Given the description of an element on the screen output the (x, y) to click on. 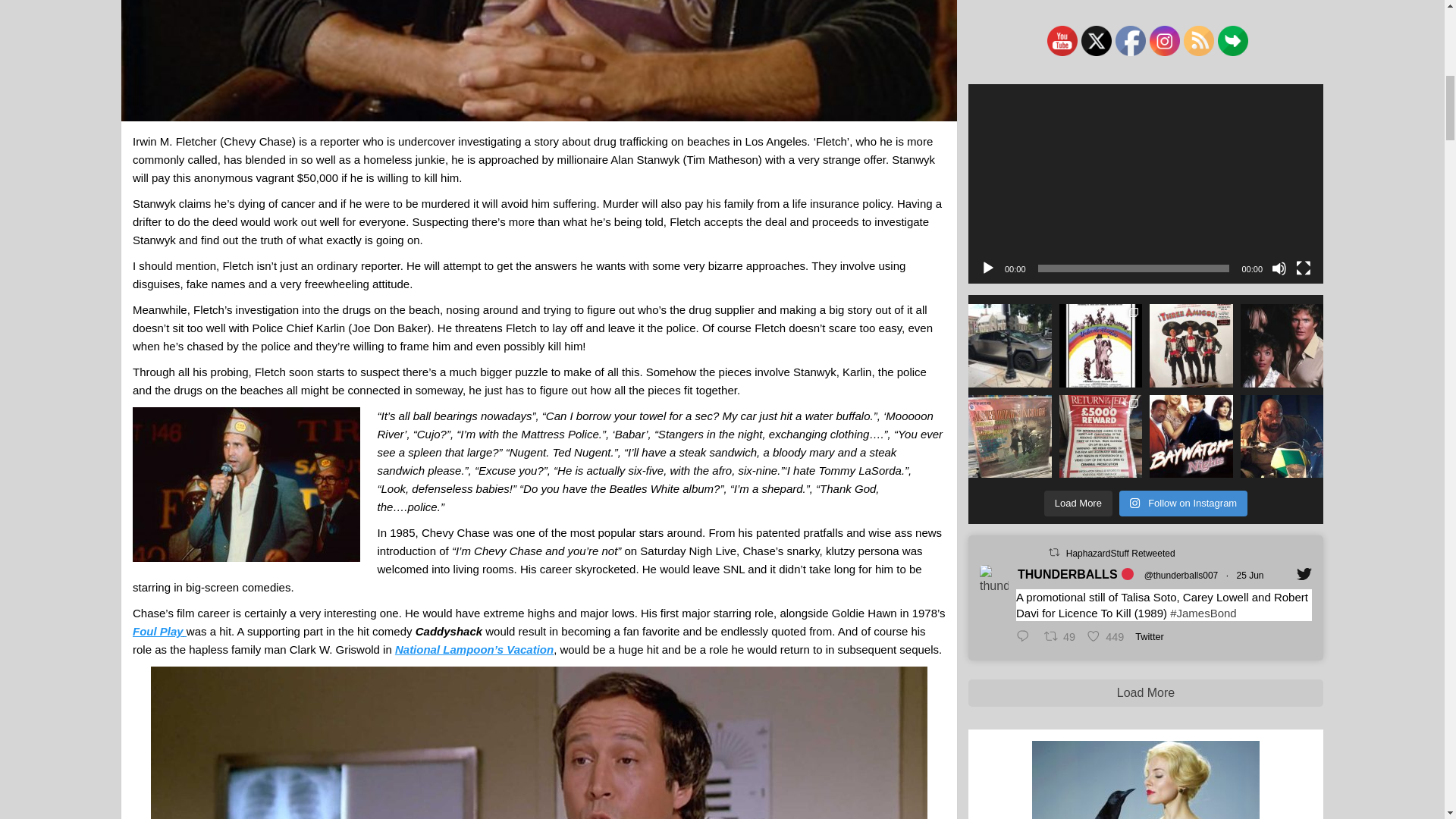
Foul Play (159, 631)
